Given the description of an element on the screen output the (x, y) to click on. 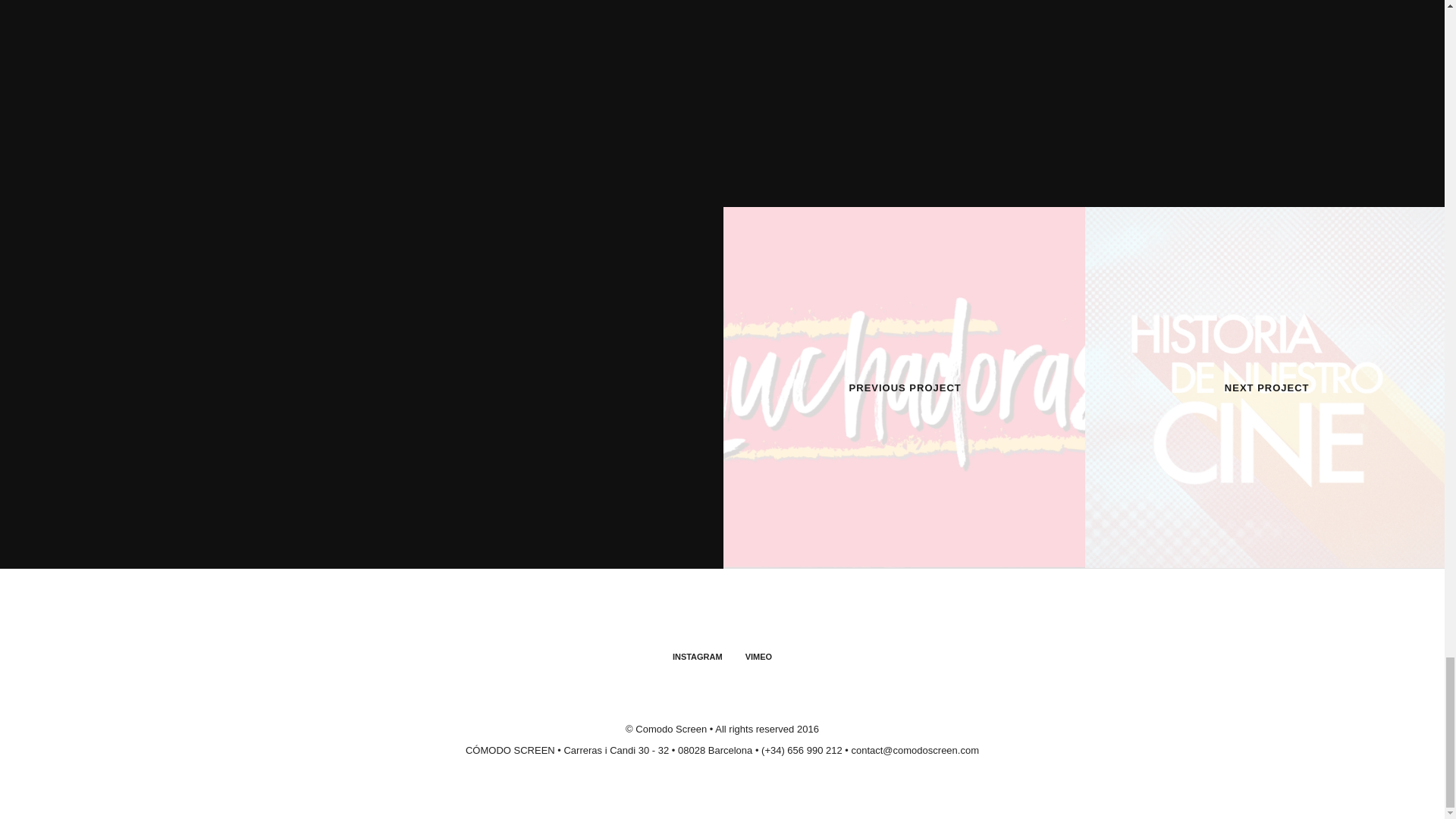
VIMEO (758, 655)
Join us on Instagram (697, 655)
INSTAGRAM (697, 655)
Join us on Vimeo (758, 655)
PREVIOUS PROJECT (904, 387)
